Given the description of an element on the screen output the (x, y) to click on. 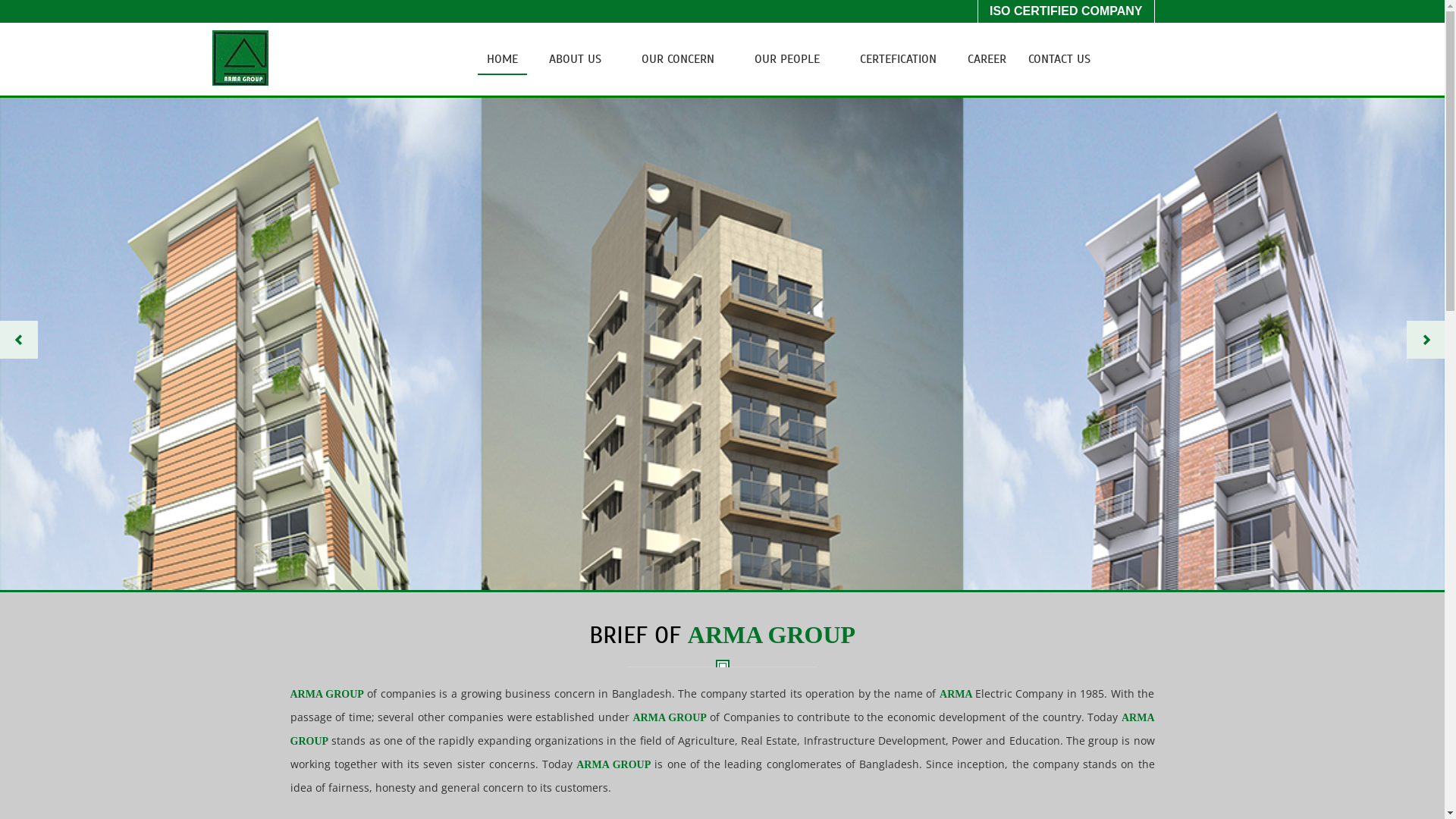
CONTACT US Element type: text (1059, 58)
ABOUT US Element type: text (574, 58)
OUR PEOPLE Element type: text (786, 58)
HOME Element type: text (502, 58)
CAREER Element type: text (986, 58)
OUR CONCERN Element type: text (677, 58)
CERTEFICATION Element type: text (897, 58)
